Given the description of an element on the screen output the (x, y) to click on. 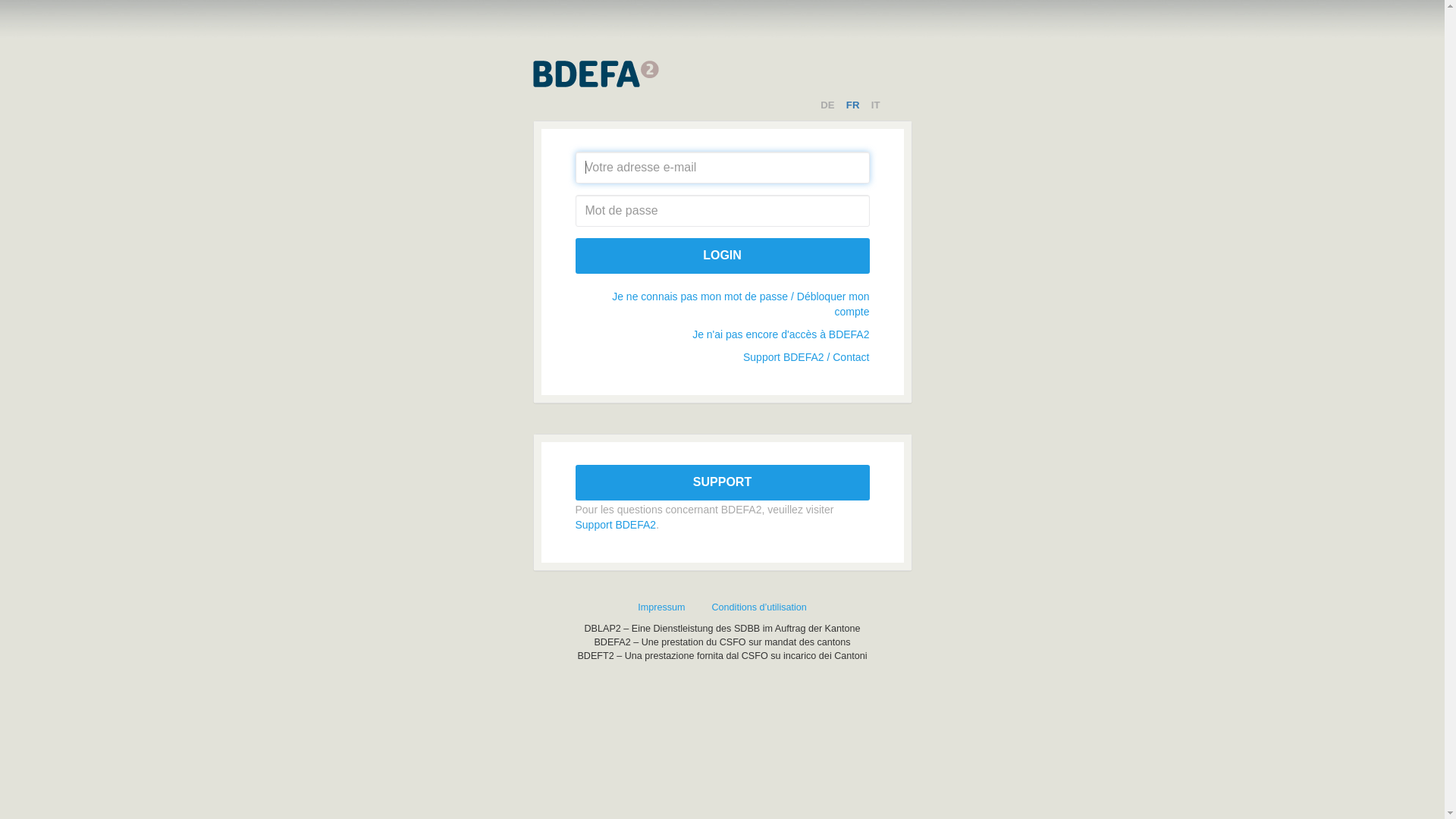
FR Element type: text (853, 104)
IT Element type: text (876, 104)
DE Element type: text (827, 104)
Support BDEFA2 / Contact Element type: text (806, 357)
SUPPORT Element type: text (721, 482)
Impressum Element type: text (660, 607)
Support BDEFA2 Element type: text (614, 524)
LOGIN Element type: text (721, 255)
